Given the description of an element on the screen output the (x, y) to click on. 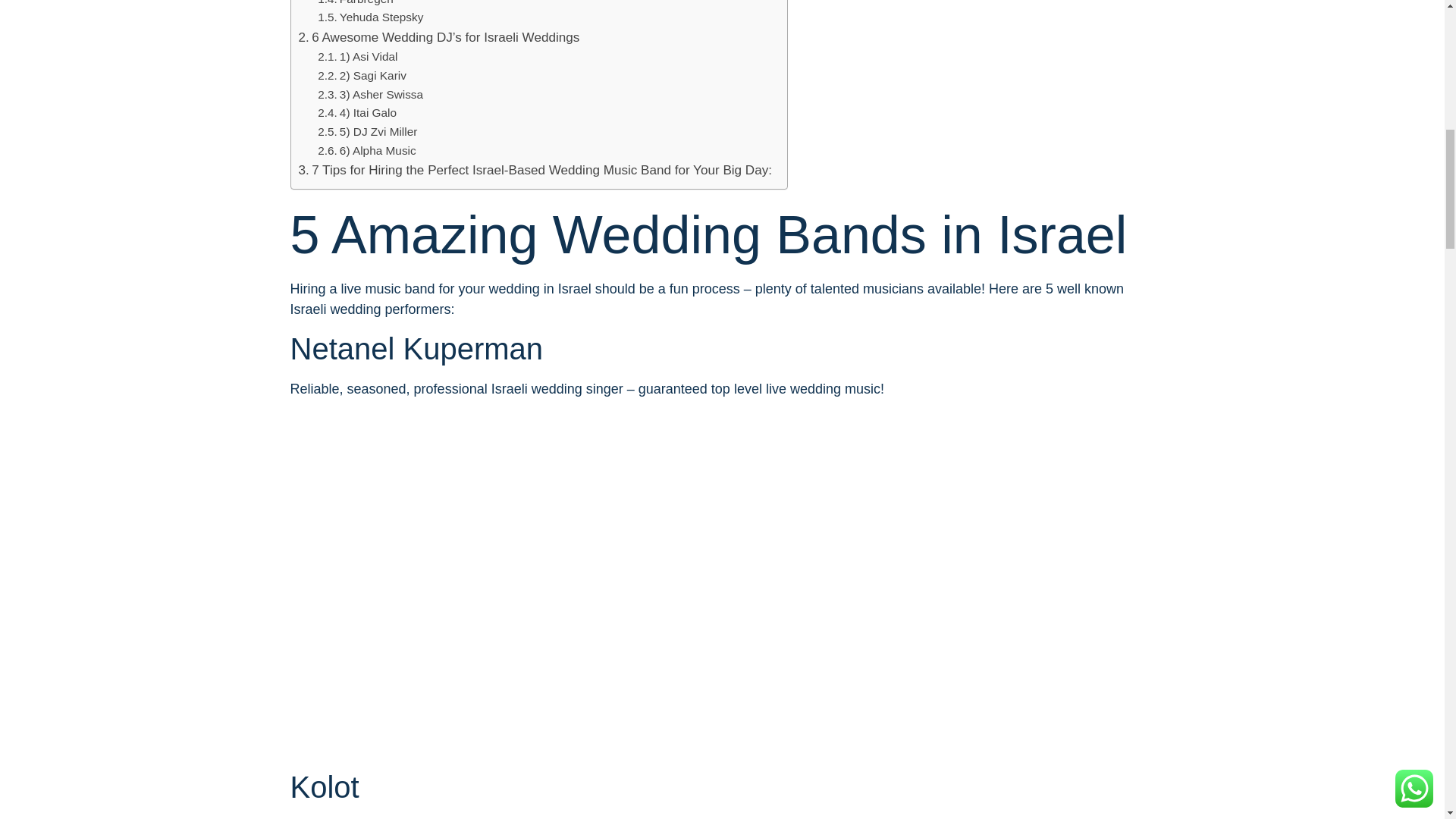
Farbregen (355, 4)
Farbregen (355, 4)
Yehuda Stepsky (370, 17)
Yehuda Stepsky (370, 17)
